Given the description of an element on the screen output the (x, y) to click on. 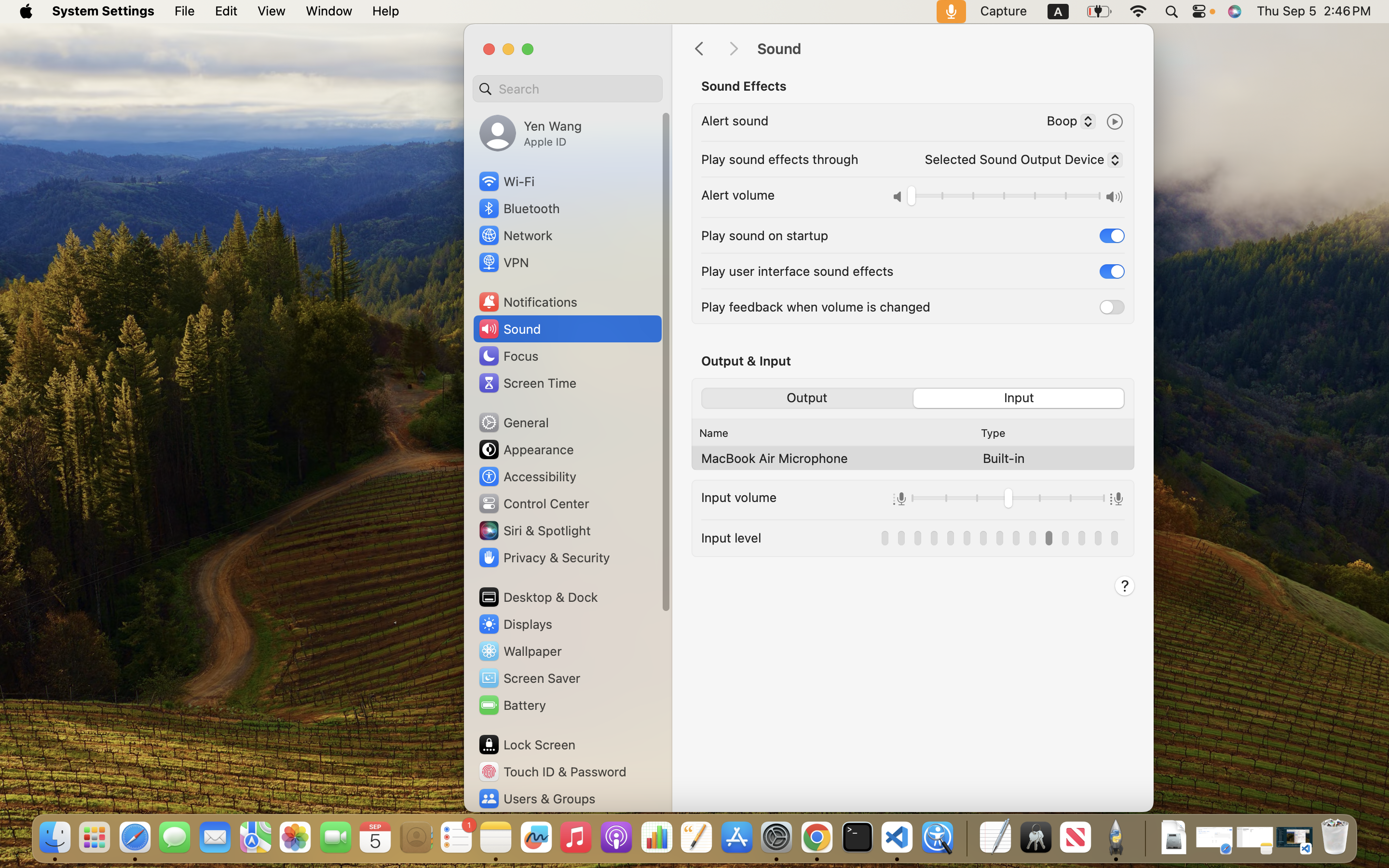
Desktop & Dock Element type: AXStaticText (537, 596)
Accessibility Element type: AXStaticText (526, 476)
Lock Screen Element type: AXStaticText (526, 744)
Notifications Element type: AXStaticText (527, 301)
Play sound effects through Element type: AXStaticText (779, 158)
